Given the description of an element on the screen output the (x, y) to click on. 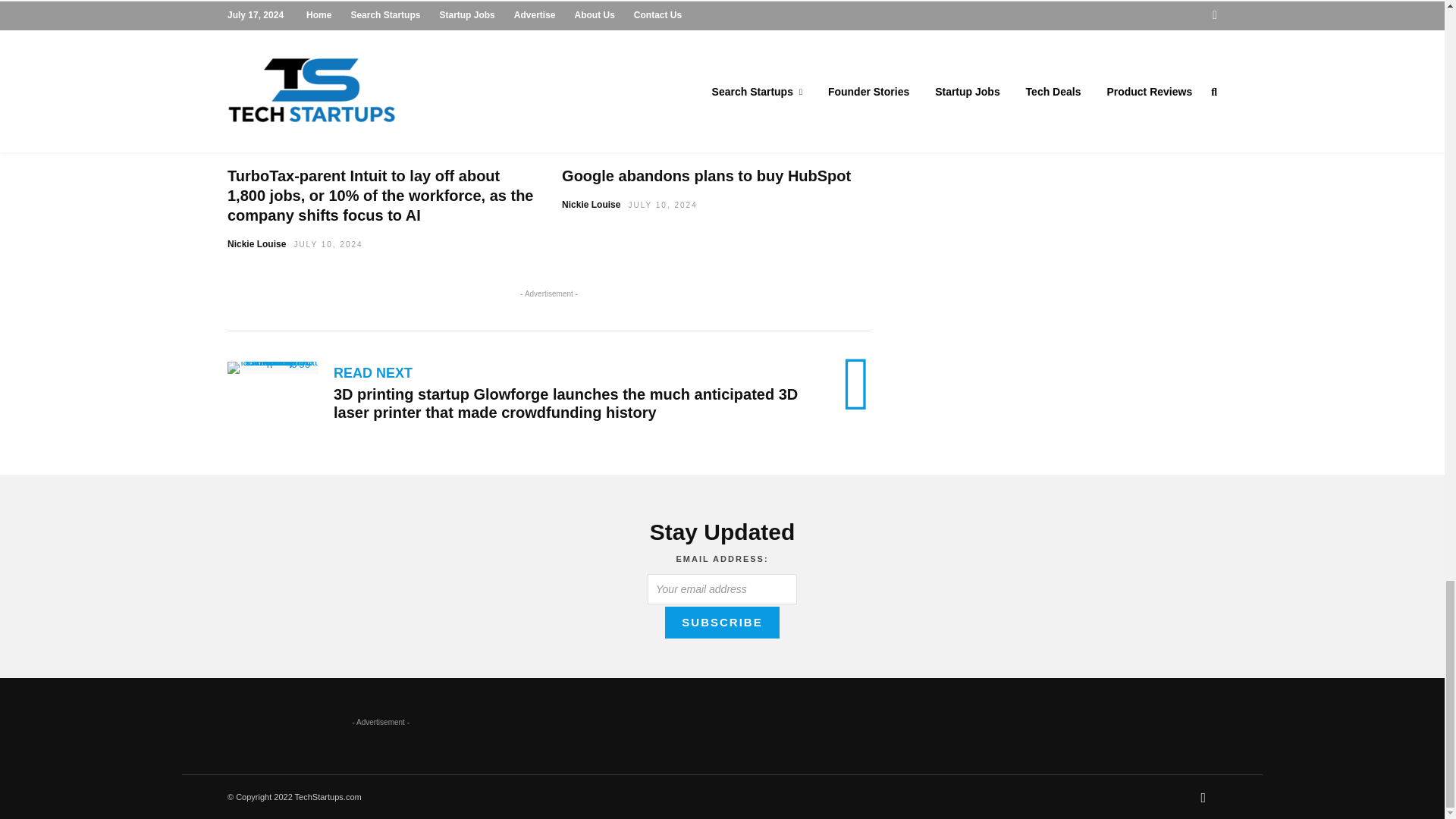
Share On Facebook (421, 29)
Share On Twitter (561, 29)
Share by Email (736, 29)
Subscribe (721, 622)
Share On Pinterest (637, 29)
